Given the description of an element on the screen output the (x, y) to click on. 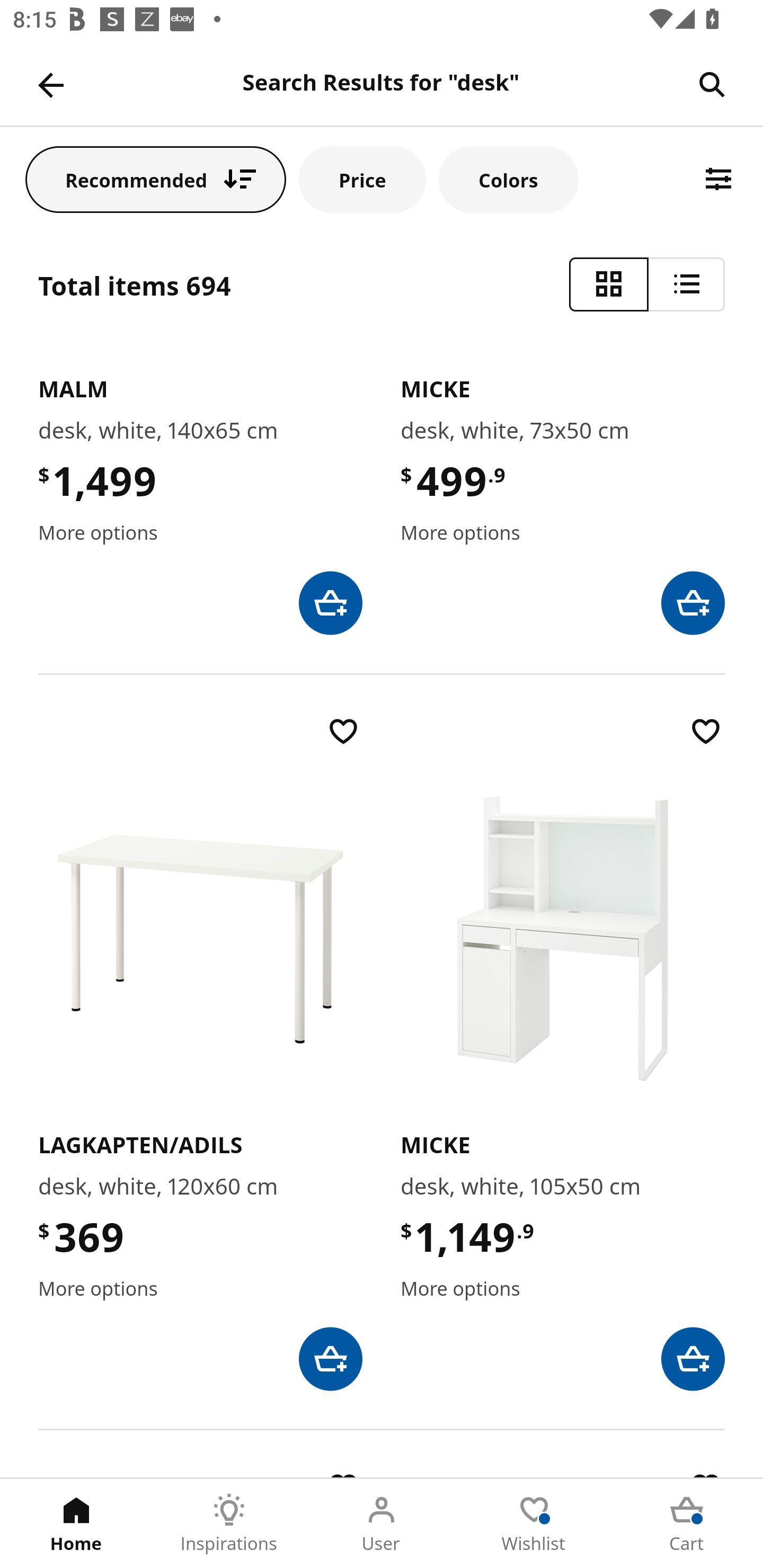
Recommended (155, 179)
Price (362, 179)
Colors (508, 179)
Home
Tab 1 of 5 (76, 1522)
Inspirations
Tab 2 of 5 (228, 1522)
User
Tab 3 of 5 (381, 1522)
Wishlist
Tab 4 of 5 (533, 1522)
Cart
Tab 5 of 5 (686, 1522)
